Given the description of an element on the screen output the (x, y) to click on. 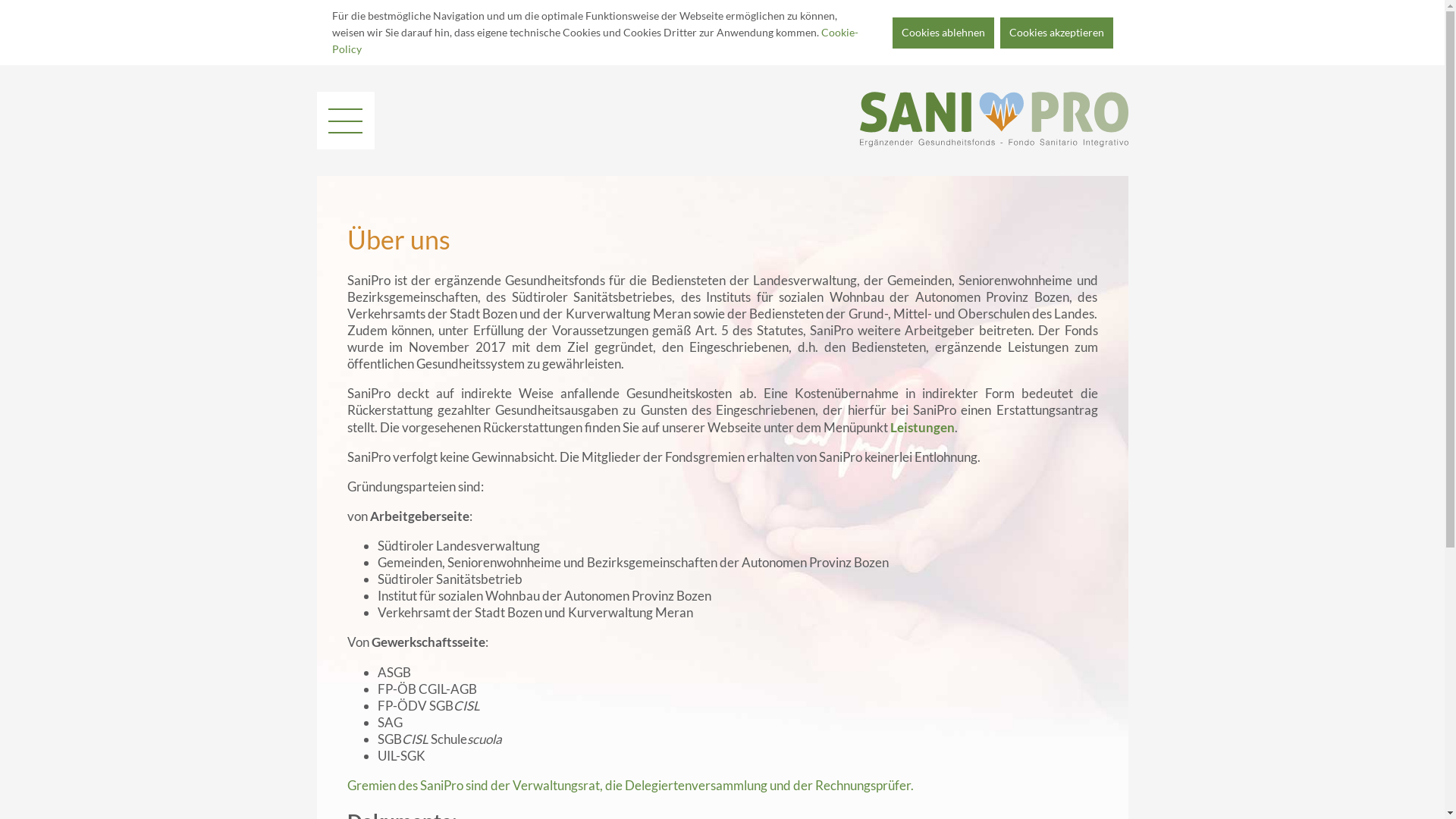
Cookies ablehnen Element type: text (942, 32)
Cookies akzeptieren Element type: text (1055, 32)
Leistungen Element type: text (922, 427)
Cookie-Policy Element type: text (595, 40)
